Given the description of an element on the screen output the (x, y) to click on. 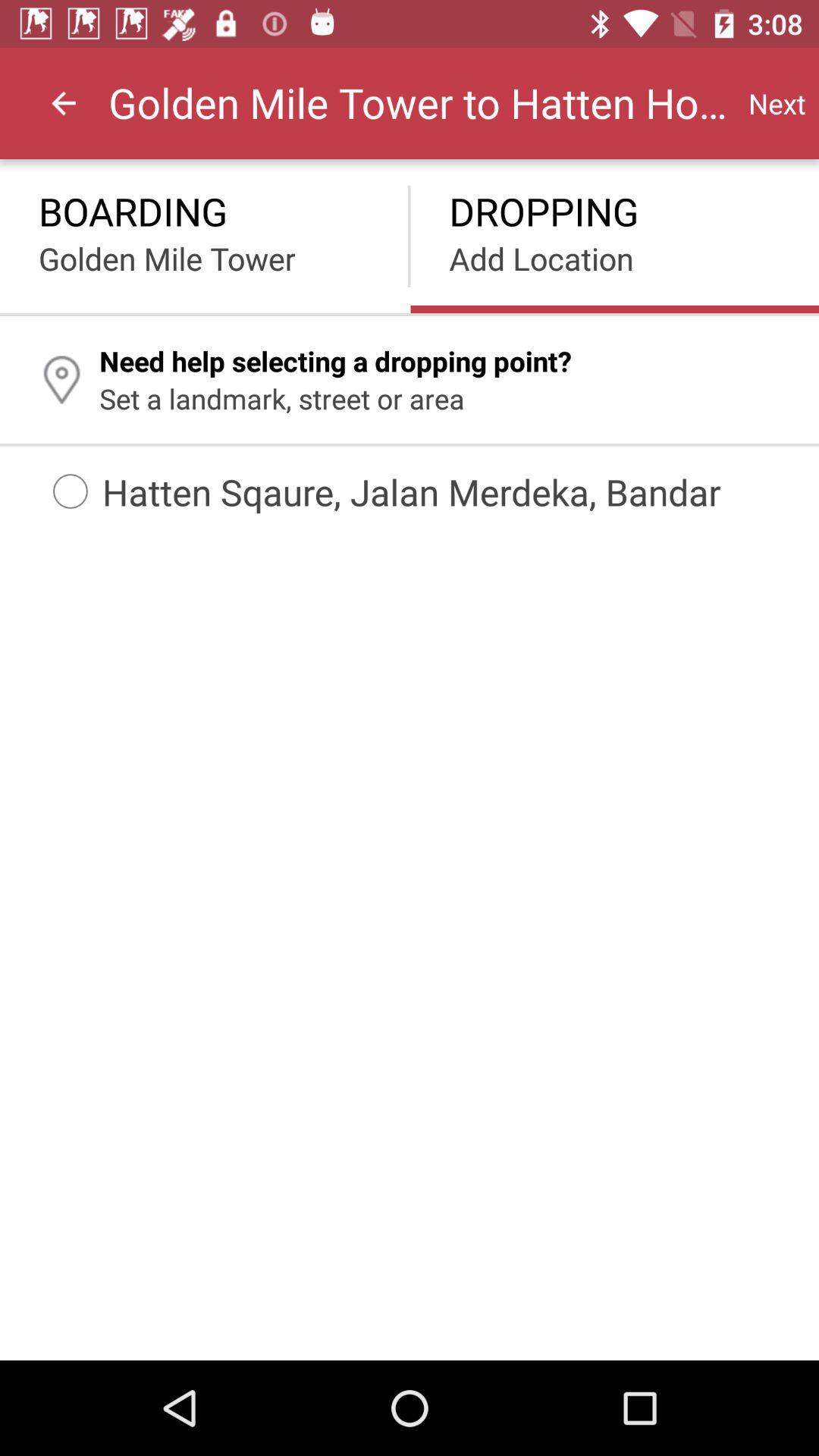
launch next (777, 103)
